Given the description of an element on the screen output the (x, y) to click on. 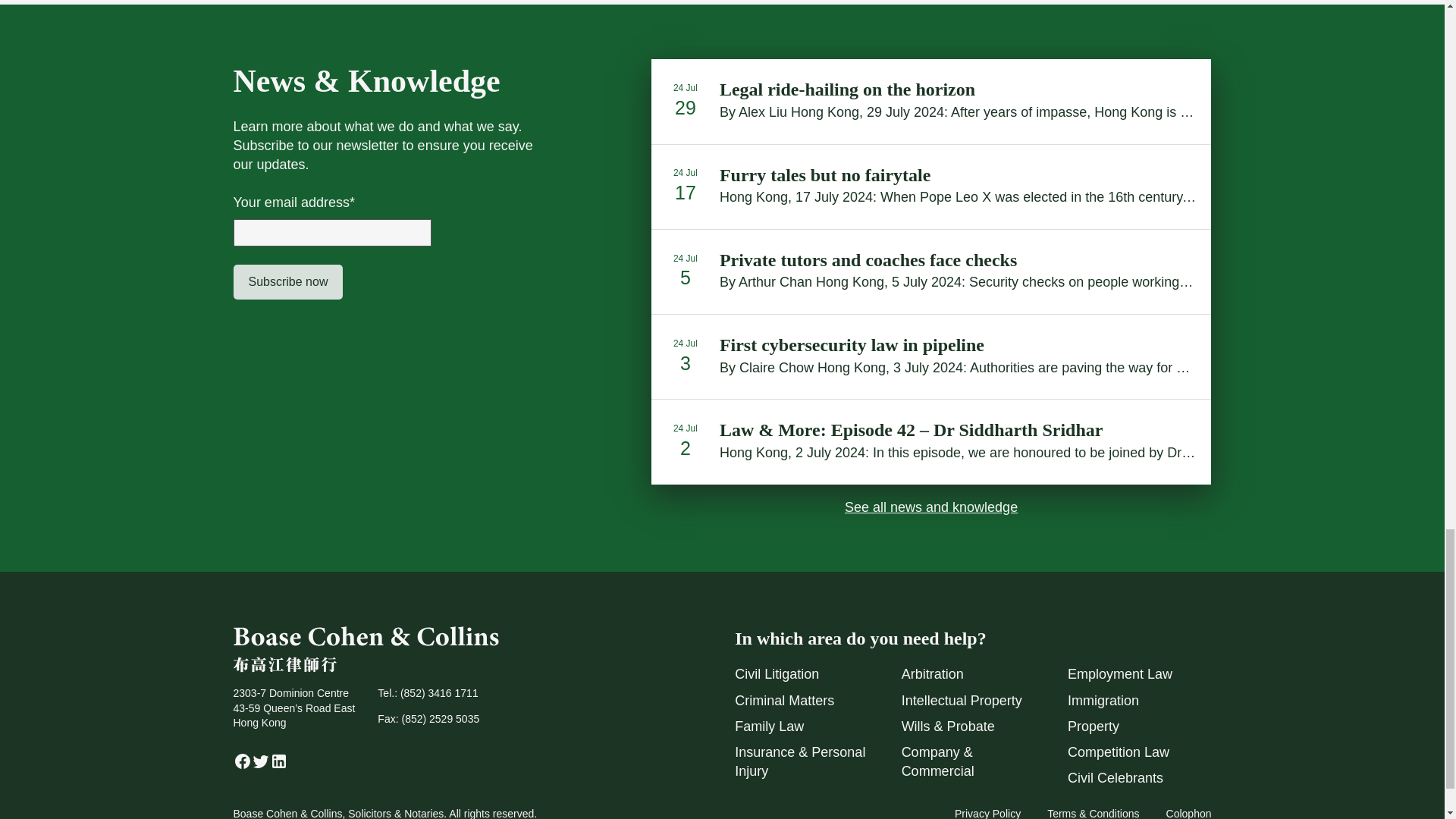
Arbitration (932, 673)
Facebook (241, 765)
Employment Law (1119, 673)
Criminal Matters (784, 700)
Immigration (1102, 700)
Twitter (260, 765)
Subscribe now (287, 281)
Intellectual Property (961, 700)
Civil Litigation (776, 673)
Family Law (769, 726)
See all news and knowledge (930, 507)
Linkedin (278, 765)
Property (1093, 726)
Subscribe now (287, 281)
